Given the description of an element on the screen output the (x, y) to click on. 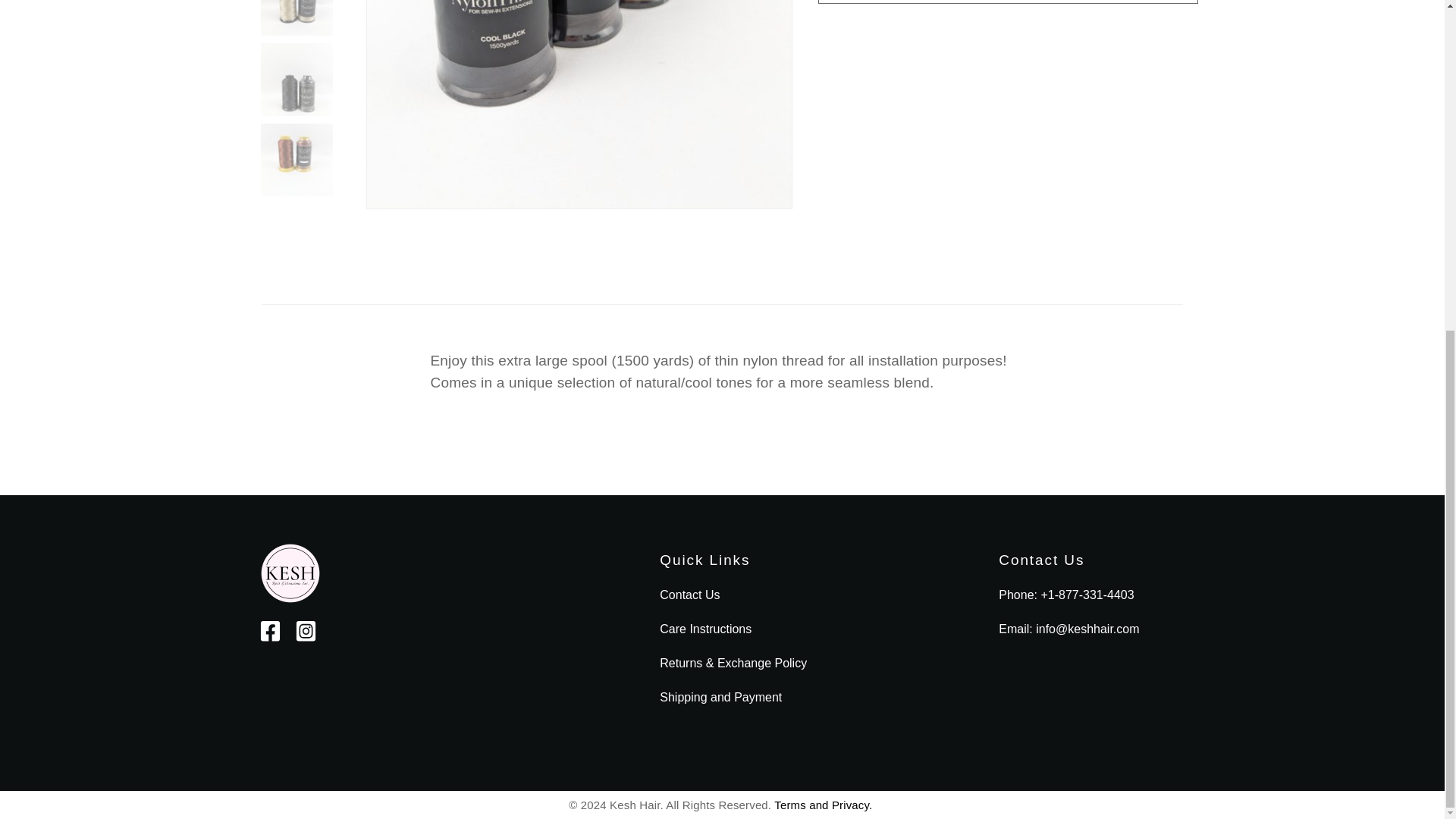
nylon label lineup (579, 104)
